Given the description of an element on the screen output the (x, y) to click on. 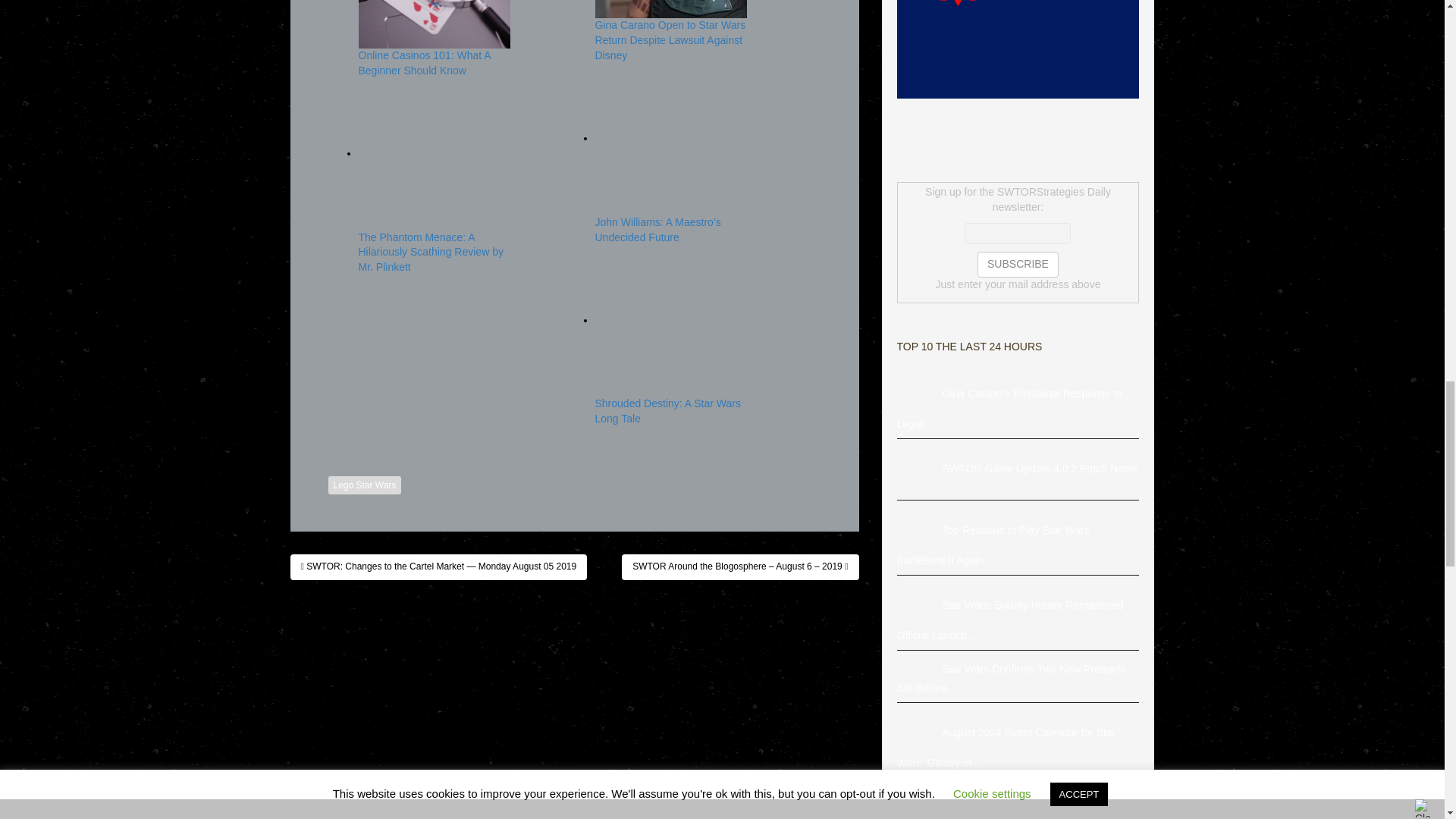
SWGoH: Ultimate Guide to the Battle for Naboo Raid (919, 802)
SWTOR Game Update 4.0.2 Patch Notes (919, 469)
Top Reasons to Play Star Wars Battlefront II Again (919, 530)
Subscribe (1017, 264)
